Given the description of an element on the screen output the (x, y) to click on. 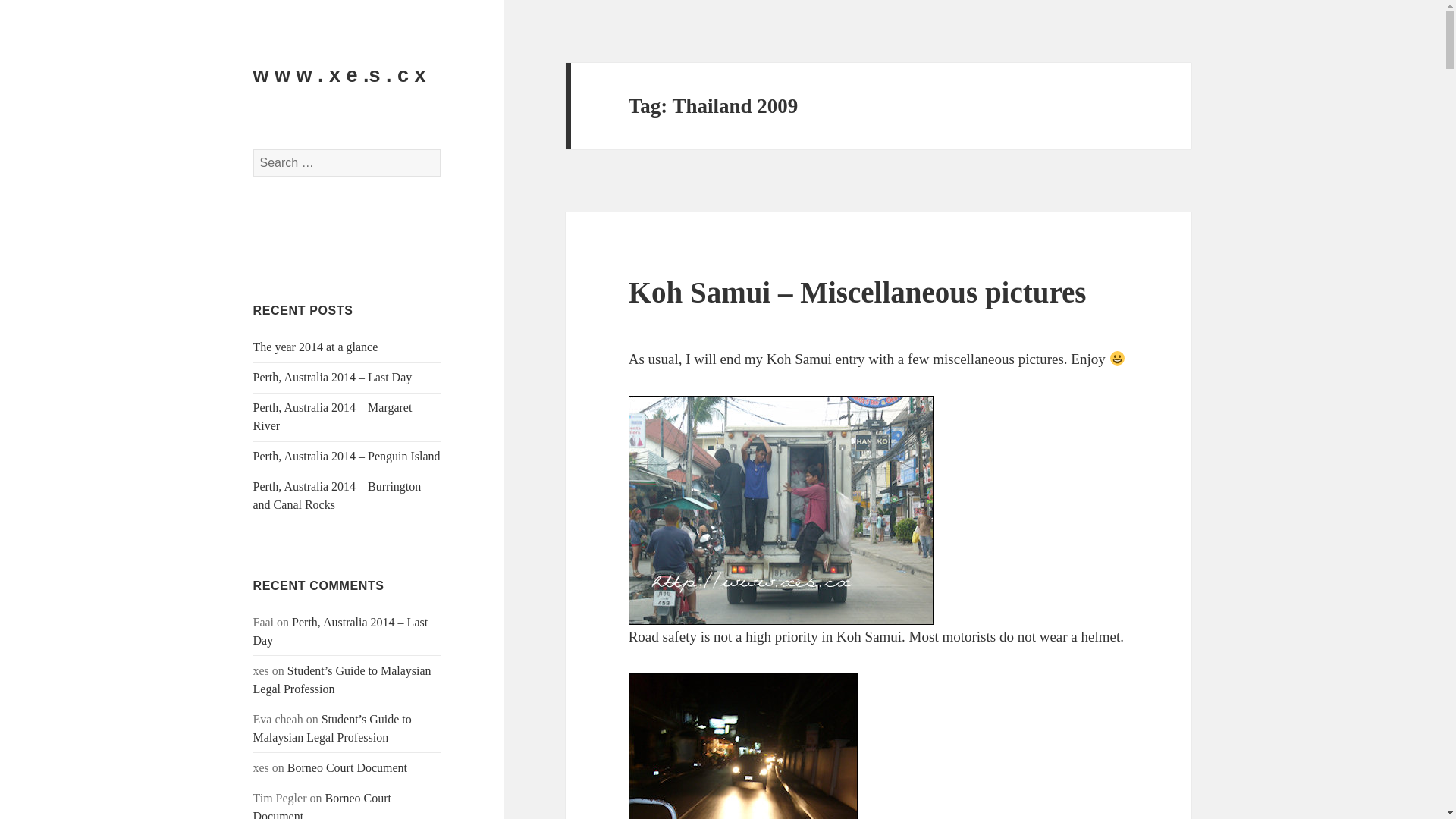
w w w . x e .s . c x (339, 74)
Borneo Court Document (322, 805)
Borneo Court Document (346, 767)
The year 2014 at a glance (315, 346)
